Given the description of an element on the screen output the (x, y) to click on. 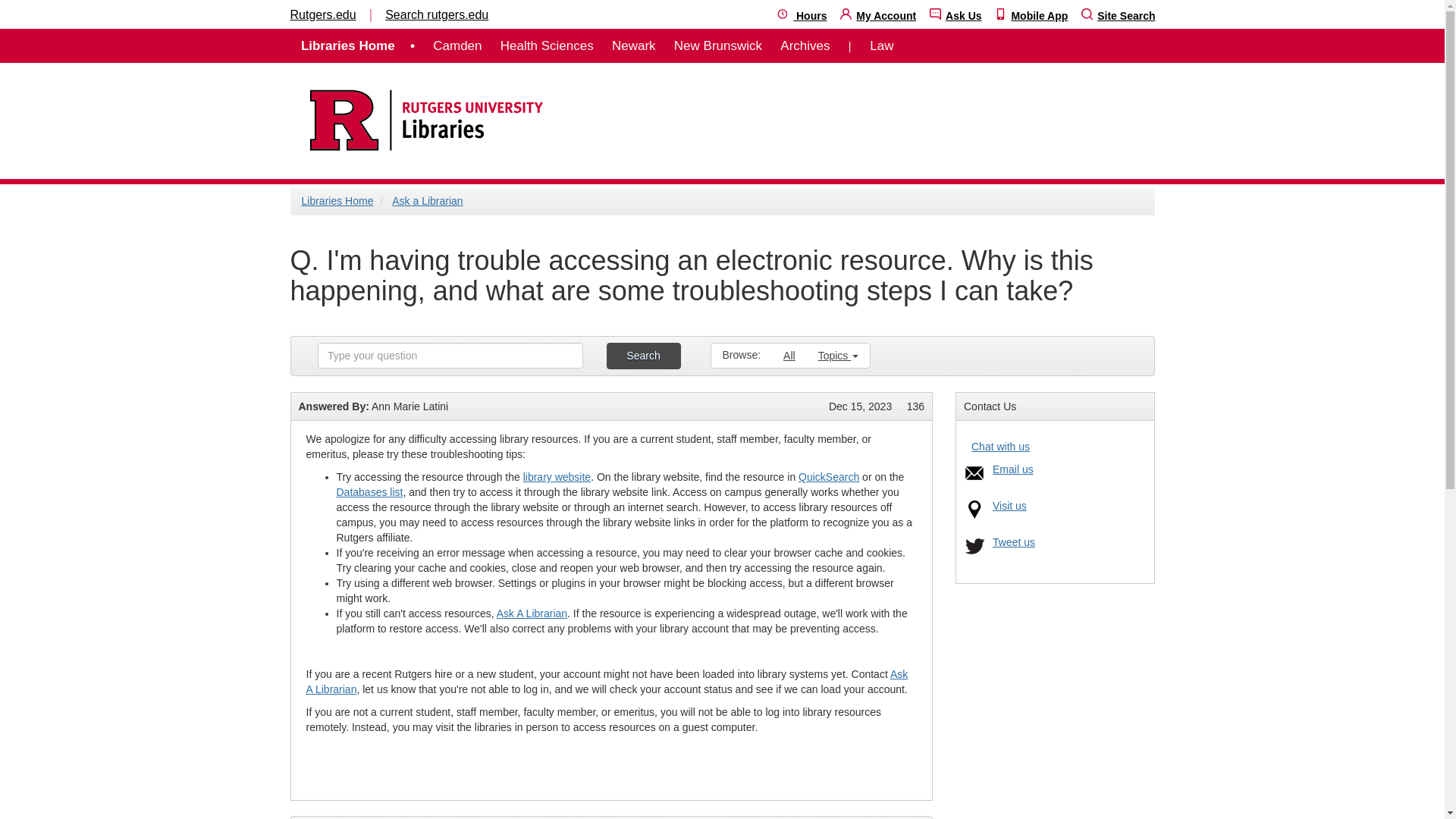
Share on Facebook (919, 817)
Print (874, 817)
Health Sciences (547, 45)
Mobile App (1030, 15)
Ask Us (955, 15)
Topics (838, 355)
Camden (456, 45)
QuickSearch (828, 476)
Rutgers.edu (322, 14)
All (788, 355)
Hours (802, 15)
Newark (633, 45)
Ask a Librarian (427, 200)
Search rutgers.edu (436, 14)
Last Updated (859, 406)
